Given the description of an element on the screen output the (x, y) to click on. 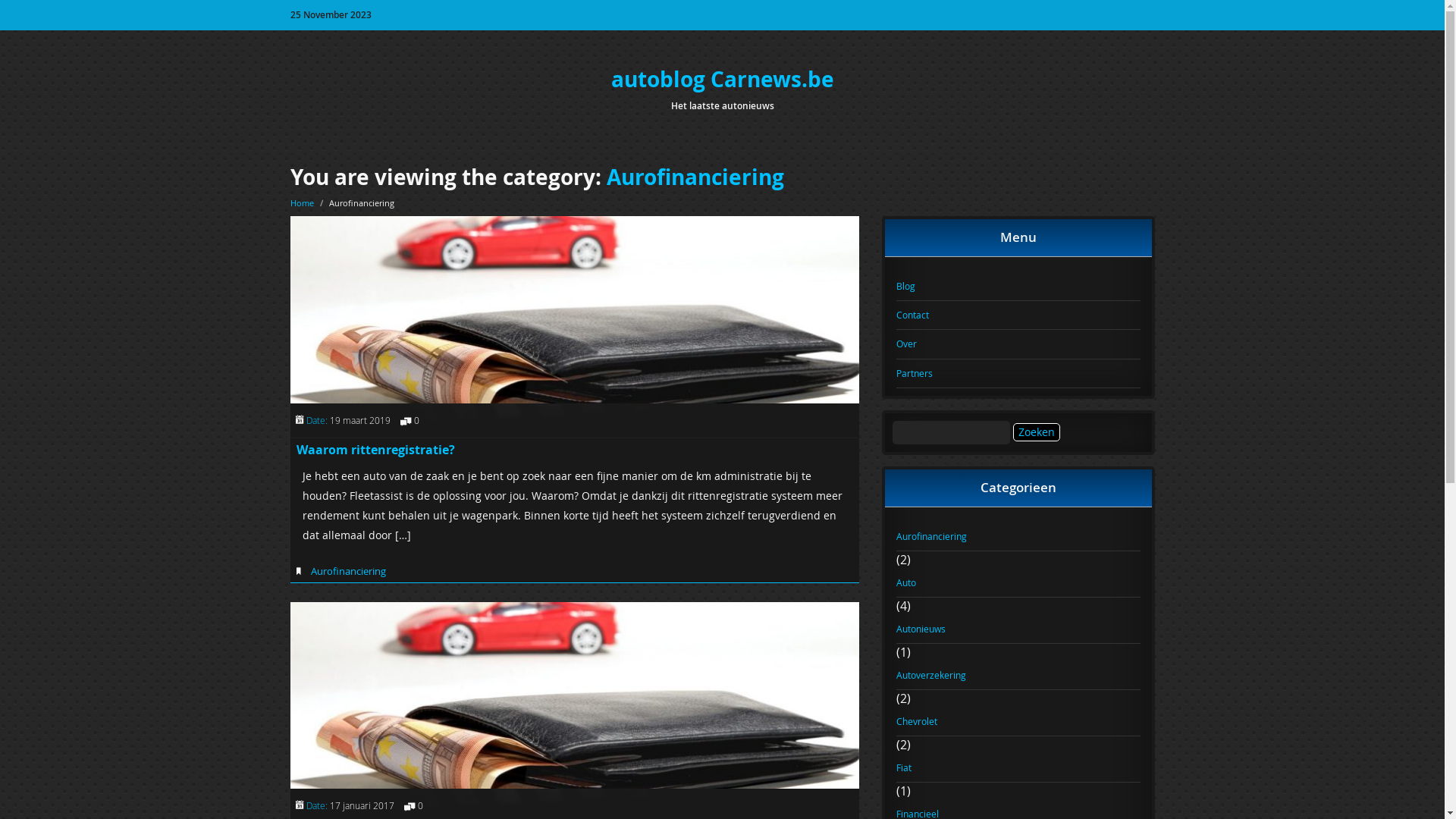
Auto Element type: text (1018, 582)
Contact Element type: text (1018, 315)
Partners Element type: text (1018, 373)
Zoeken Element type: text (1036, 432)
Aurofinanciering Element type: text (1018, 536)
autoblog Carnews.be Element type: text (722, 79)
Blog Element type: text (1018, 286)
Aurofinanciering Element type: text (695, 176)
Fiat Element type: text (1018, 767)
Waarom rittenregistratie? Element type: text (374, 449)
Home Element type: text (301, 202)
Autoverzekering Element type: text (1018, 675)
Aurofinanciering Element type: text (347, 570)
Chevrolet Element type: text (1018, 721)
Over Element type: text (1018, 343)
Autonieuws Element type: text (1018, 629)
